Given the description of an element on the screen output the (x, y) to click on. 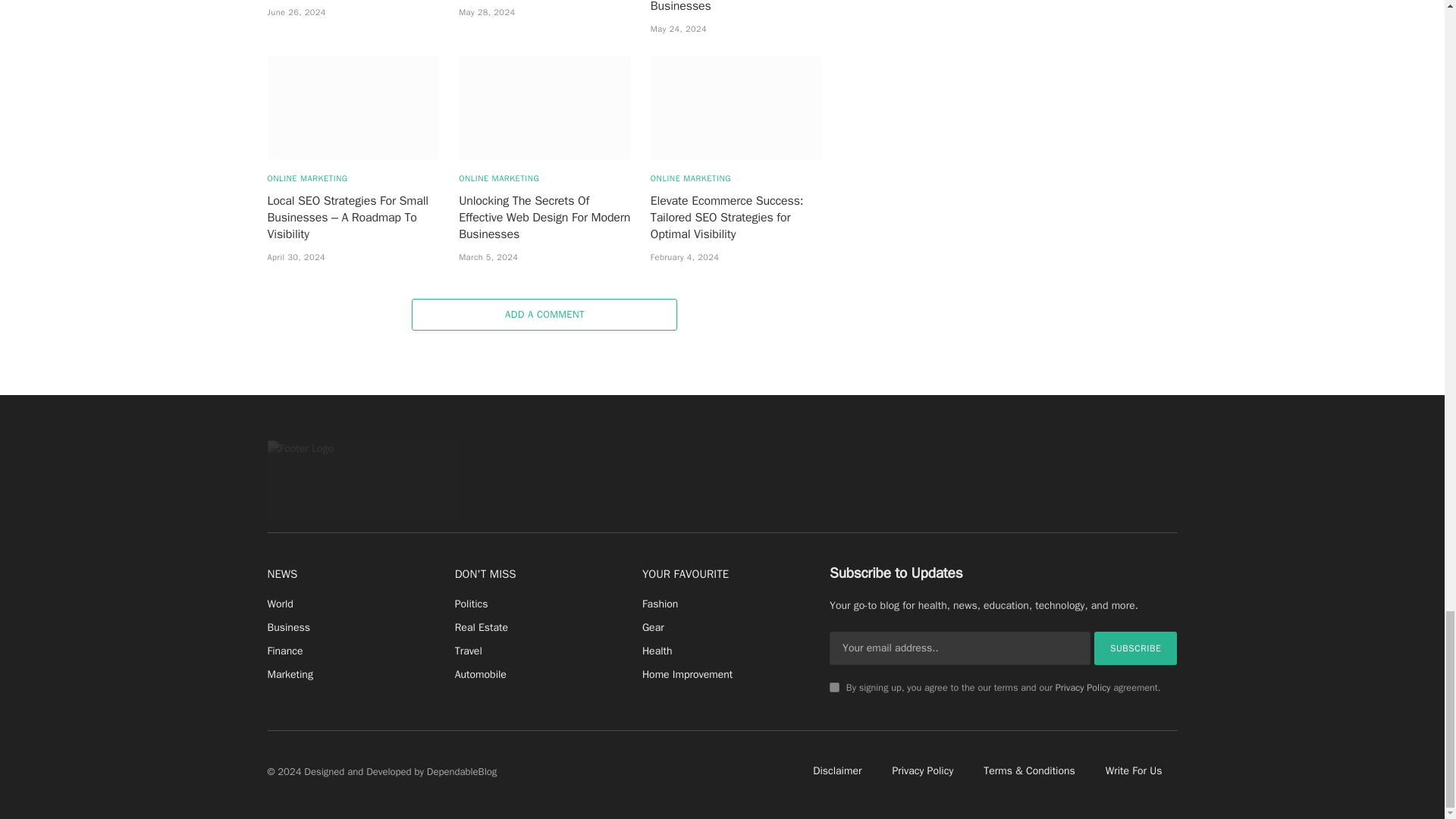
on (834, 687)
Subscribe (1135, 648)
